Given the description of an element on the screen output the (x, y) to click on. 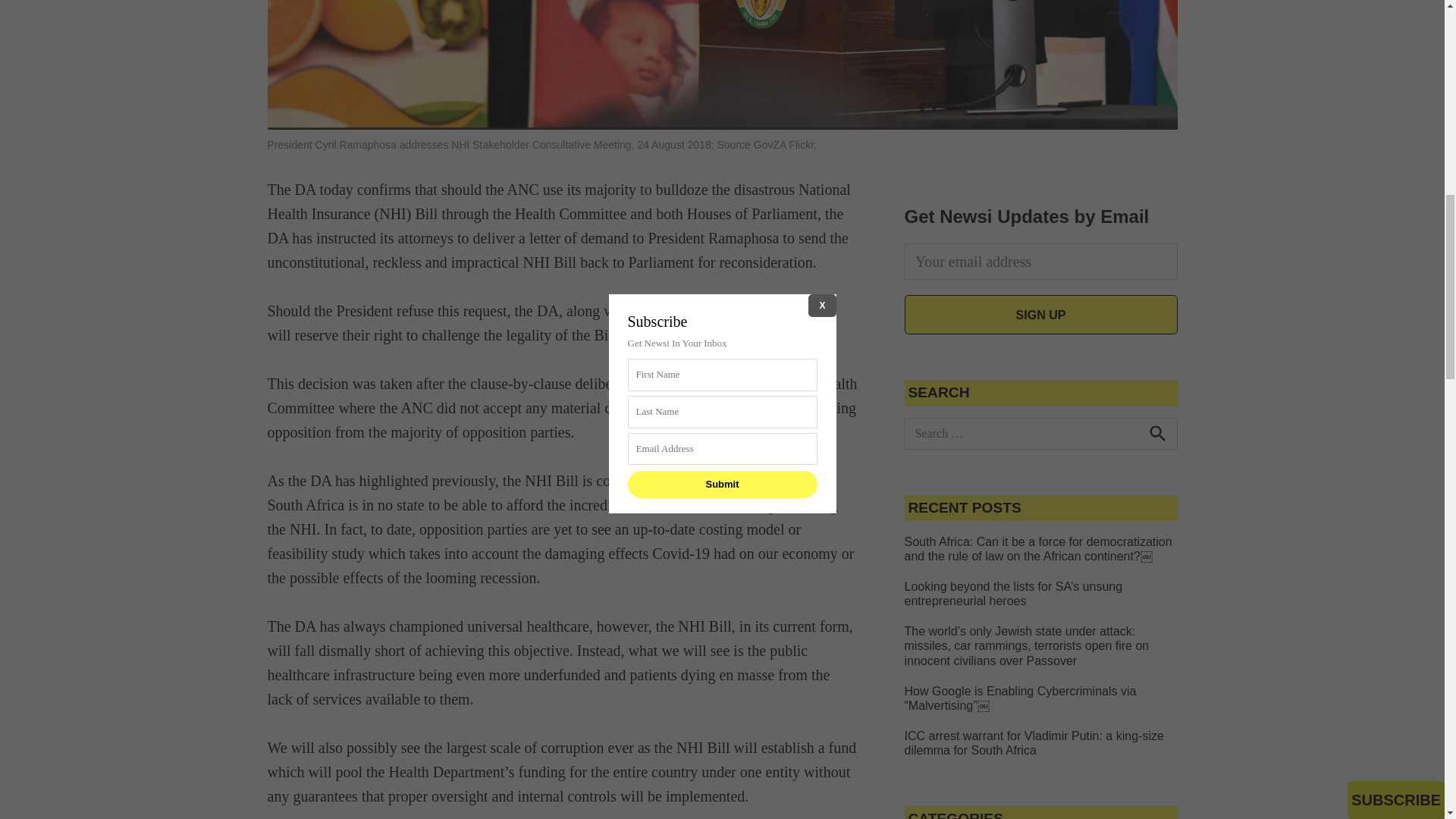
Sign up (1040, 314)
Sign up (1040, 314)
Search (1156, 433)
